Given the description of an element on the screen output the (x, y) to click on. 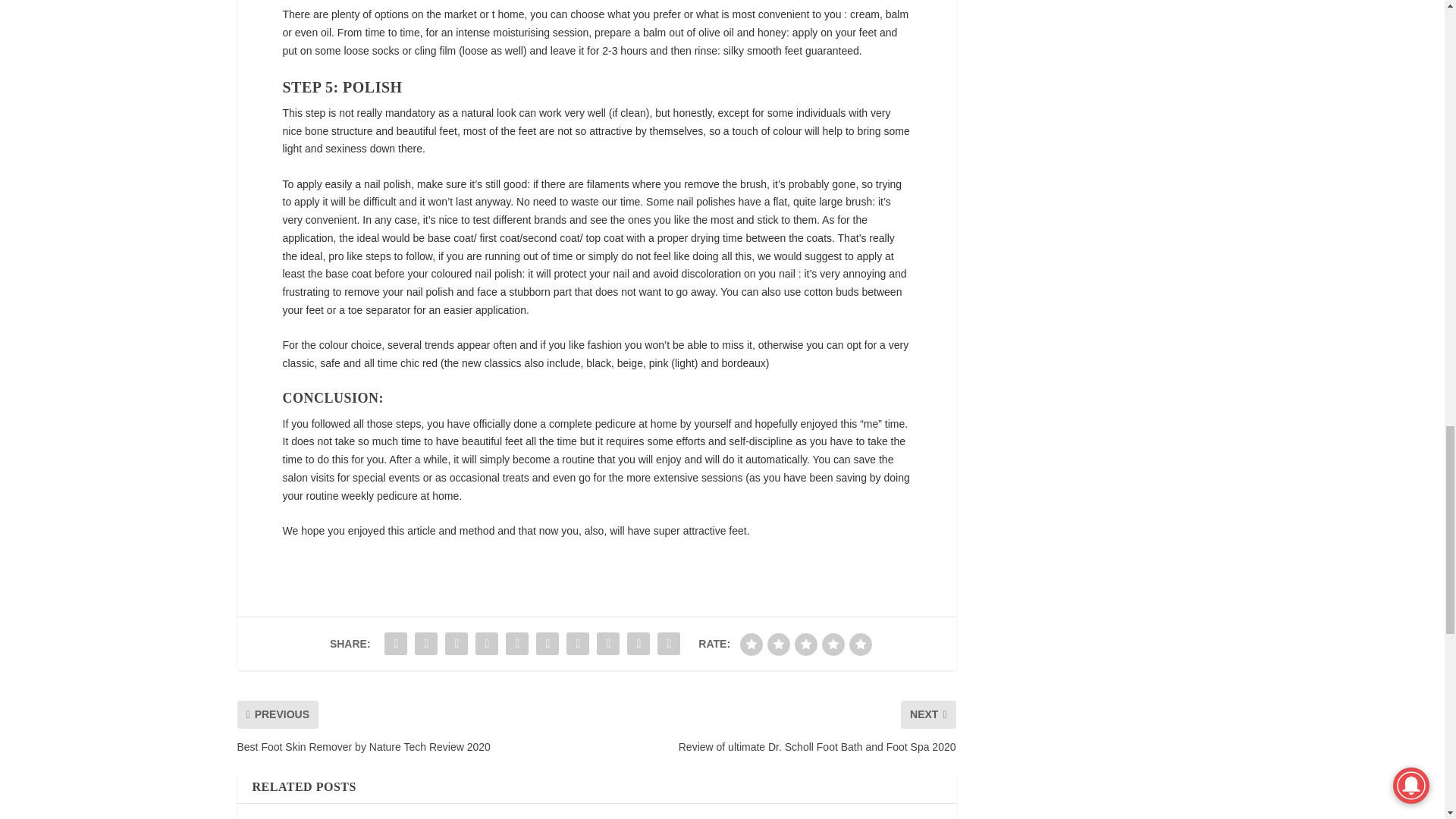
Share "5 Steps To A Perfect Pedicure At Home" via Facebook (395, 643)
Share "5 Steps To A Perfect Pedicure At Home" via Buffer (577, 643)
Share "5 Steps To A Perfect Pedicure At Home" via LinkedIn (547, 643)
Share "5 Steps To A Perfect Pedicure At Home" via Twitter (425, 643)
Share "5 Steps To A Perfect Pedicure At Home" via Tumblr (486, 643)
Share "5 Steps To A Perfect Pedicure At Home" via Pinterest (517, 643)
